Given the description of an element on the screen output the (x, y) to click on. 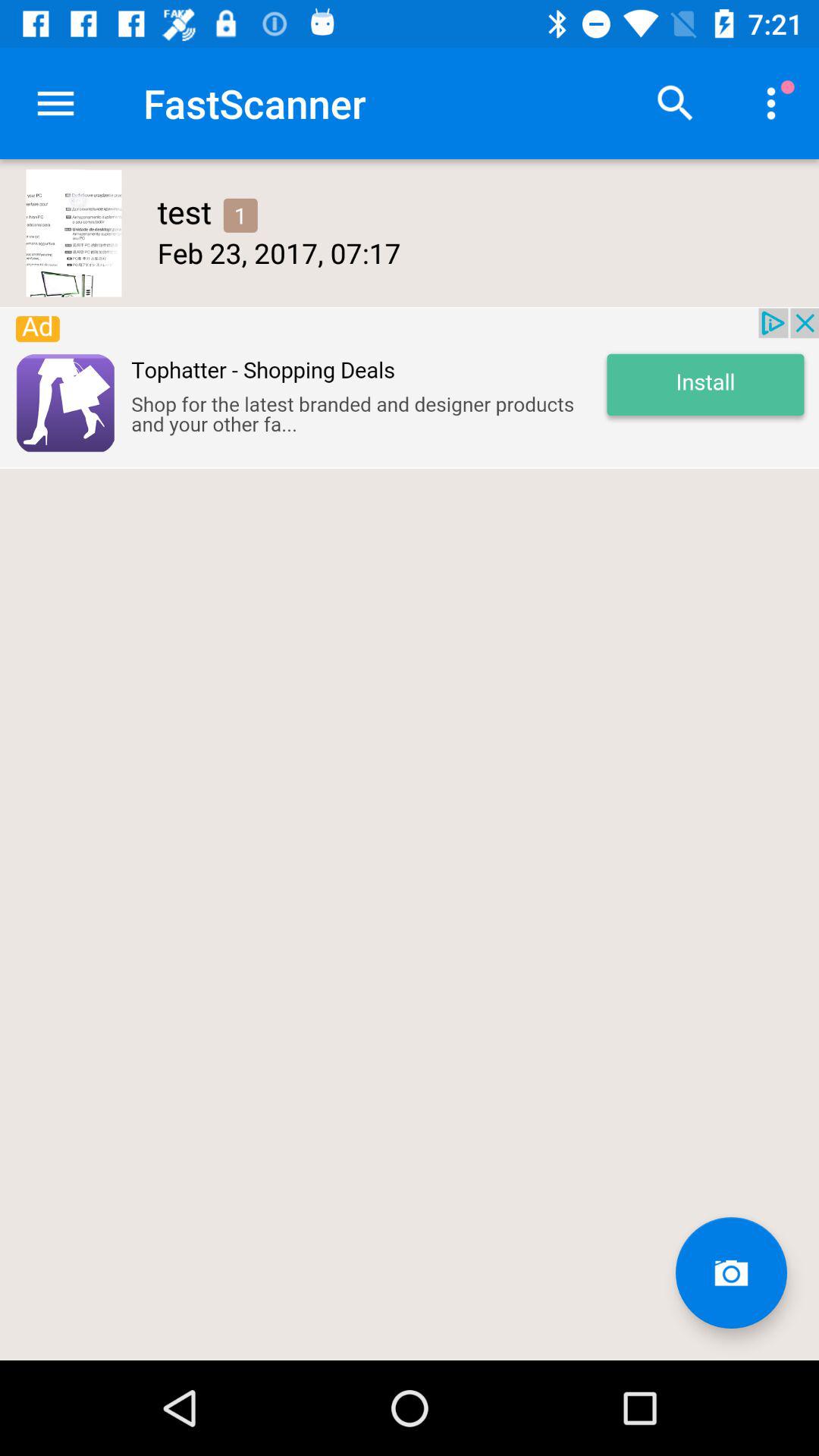
camera option (731, 1272)
